Given the description of an element on the screen output the (x, y) to click on. 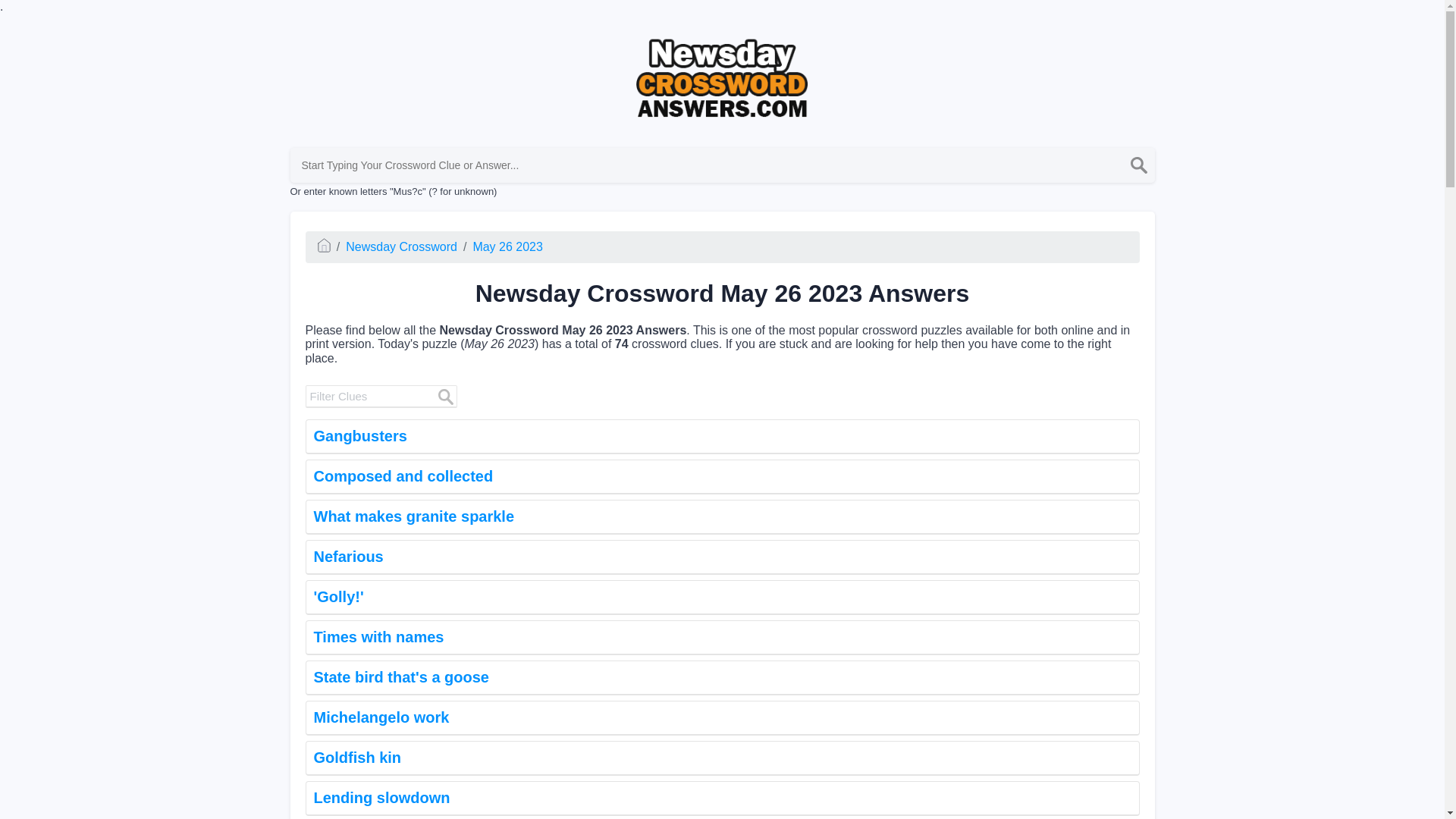
Composed and collected (721, 476)
Lending slowdown (721, 798)
State bird that's a goose (721, 677)
Nefarious (721, 556)
Gangbusters (721, 436)
May 26 2023 (507, 246)
'Golly!' (721, 597)
Times with names (721, 637)
What makes granite sparkle (721, 516)
Goldfish kin (721, 758)
